Given the description of an element on the screen output the (x, y) to click on. 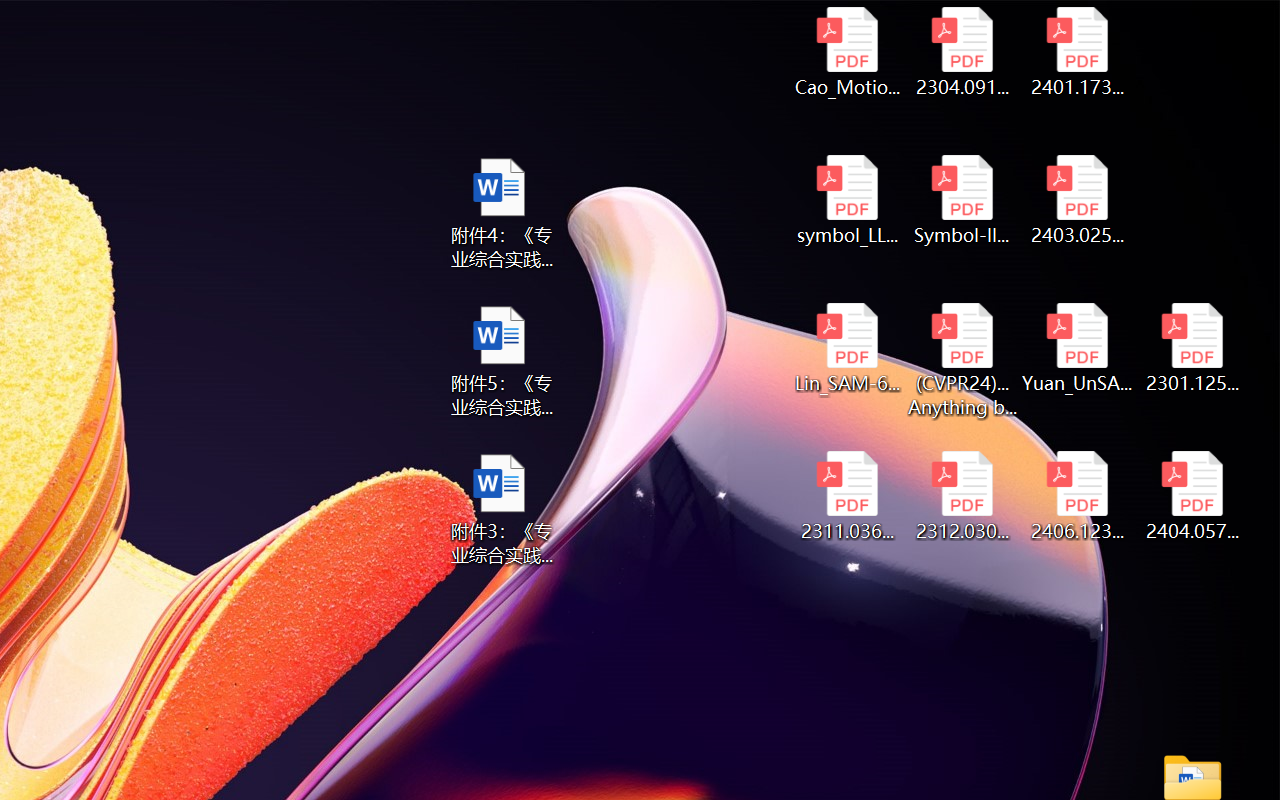
(CVPR24)Matching Anything by Segmenting Anything.pdf (962, 360)
2304.09121v3.pdf (962, 52)
2311.03658v2.pdf (846, 496)
2401.17399v1.pdf (1077, 52)
Symbol-llm-v2.pdf (962, 200)
symbol_LLM.pdf (846, 200)
2301.12597v3.pdf (1192, 348)
2403.02502v1.pdf (1077, 200)
2404.05719v1.pdf (1192, 496)
2406.12373v2.pdf (1077, 496)
